Given the description of an element on the screen output the (x, y) to click on. 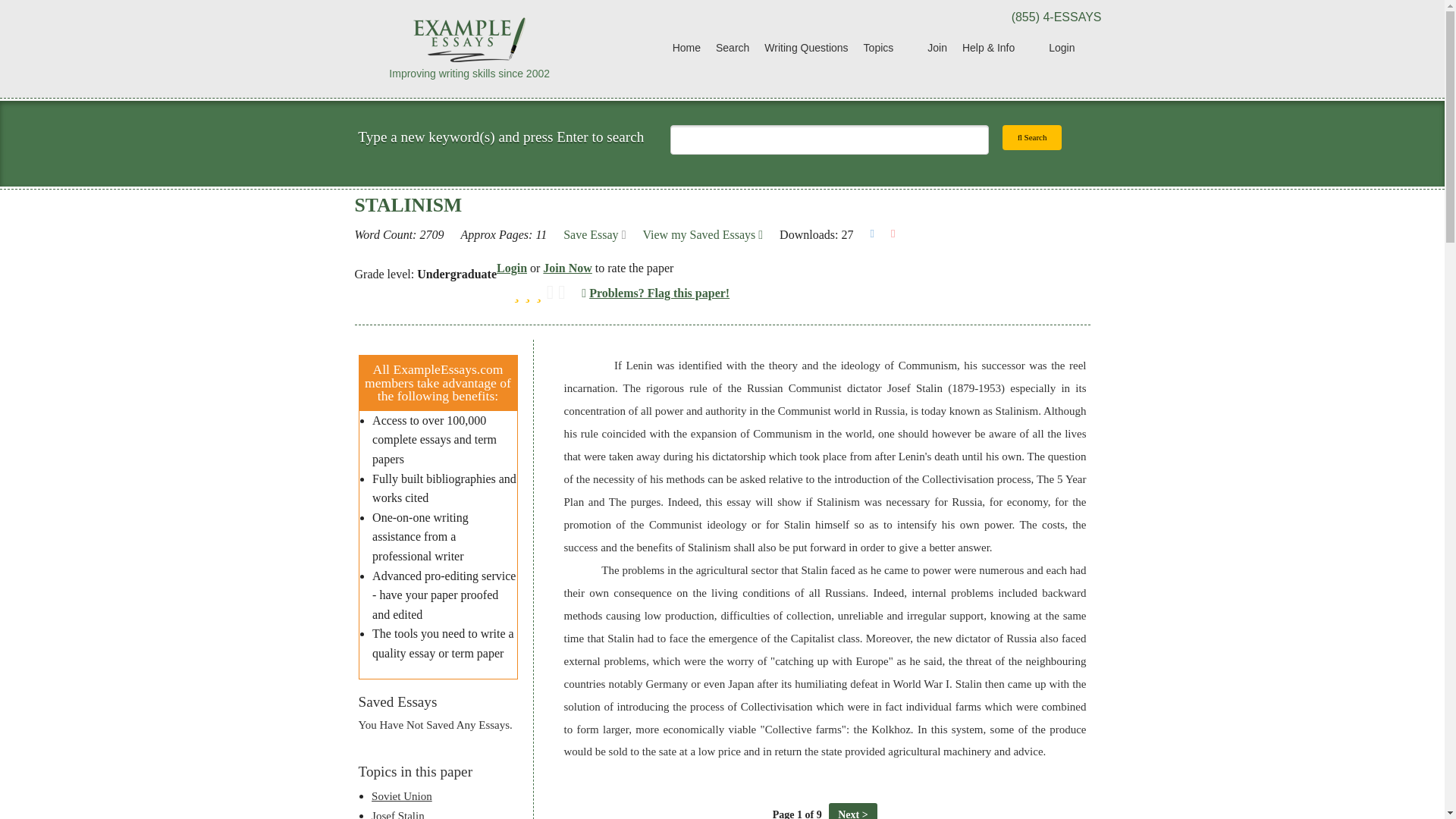
Click here to save this paper for future access (594, 234)
Join Now (567, 267)
Home (686, 48)
Save Essay (594, 234)
Search (732, 48)
Login (511, 267)
Search (1032, 137)
Topics (888, 48)
View my Saved Essays (702, 234)
Problems? Flag this paper! (654, 293)
